Given the description of an element on the screen output the (x, y) to click on. 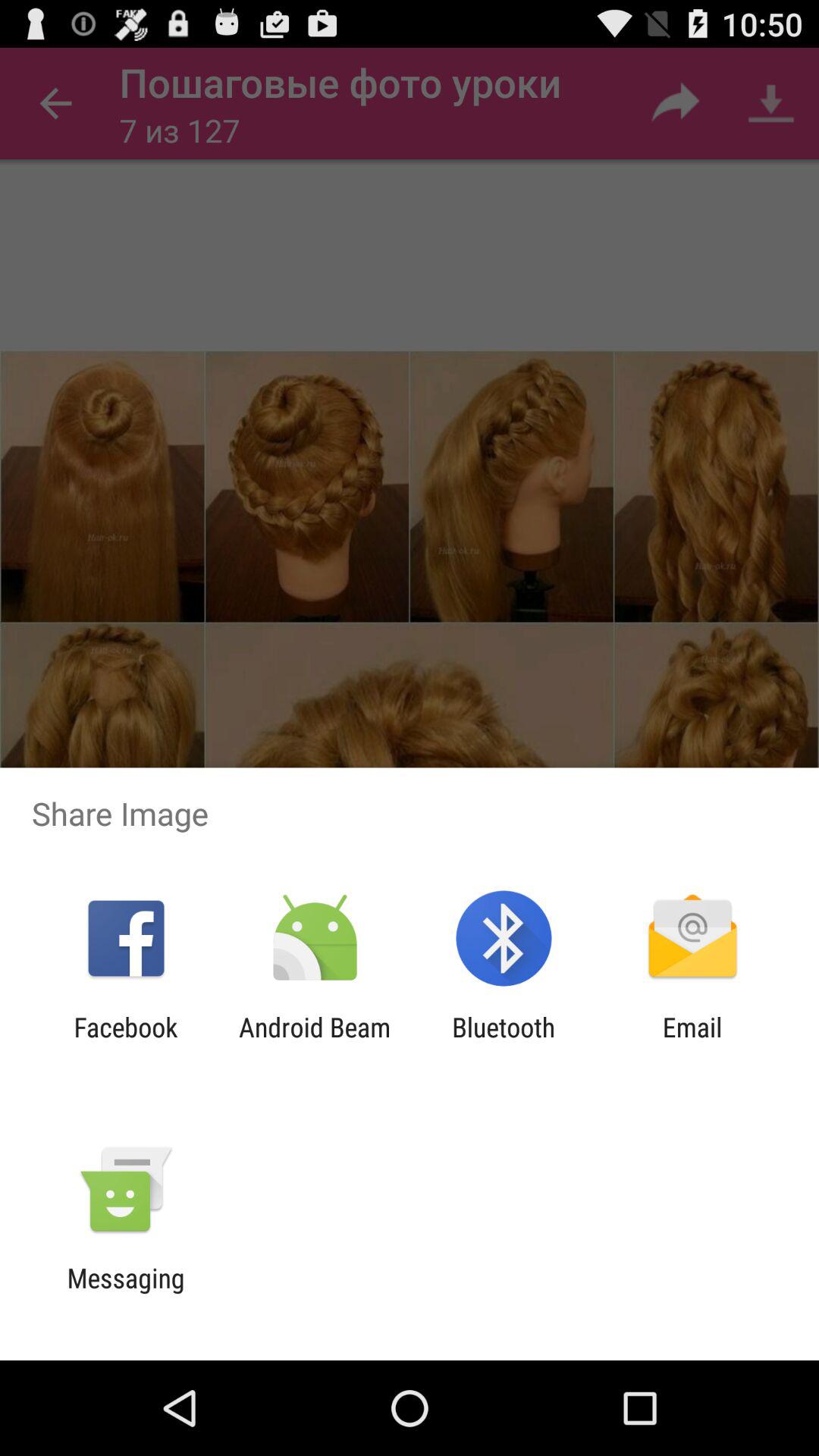
swipe to android beam app (314, 1042)
